Given the description of an element on the screen output the (x, y) to click on. 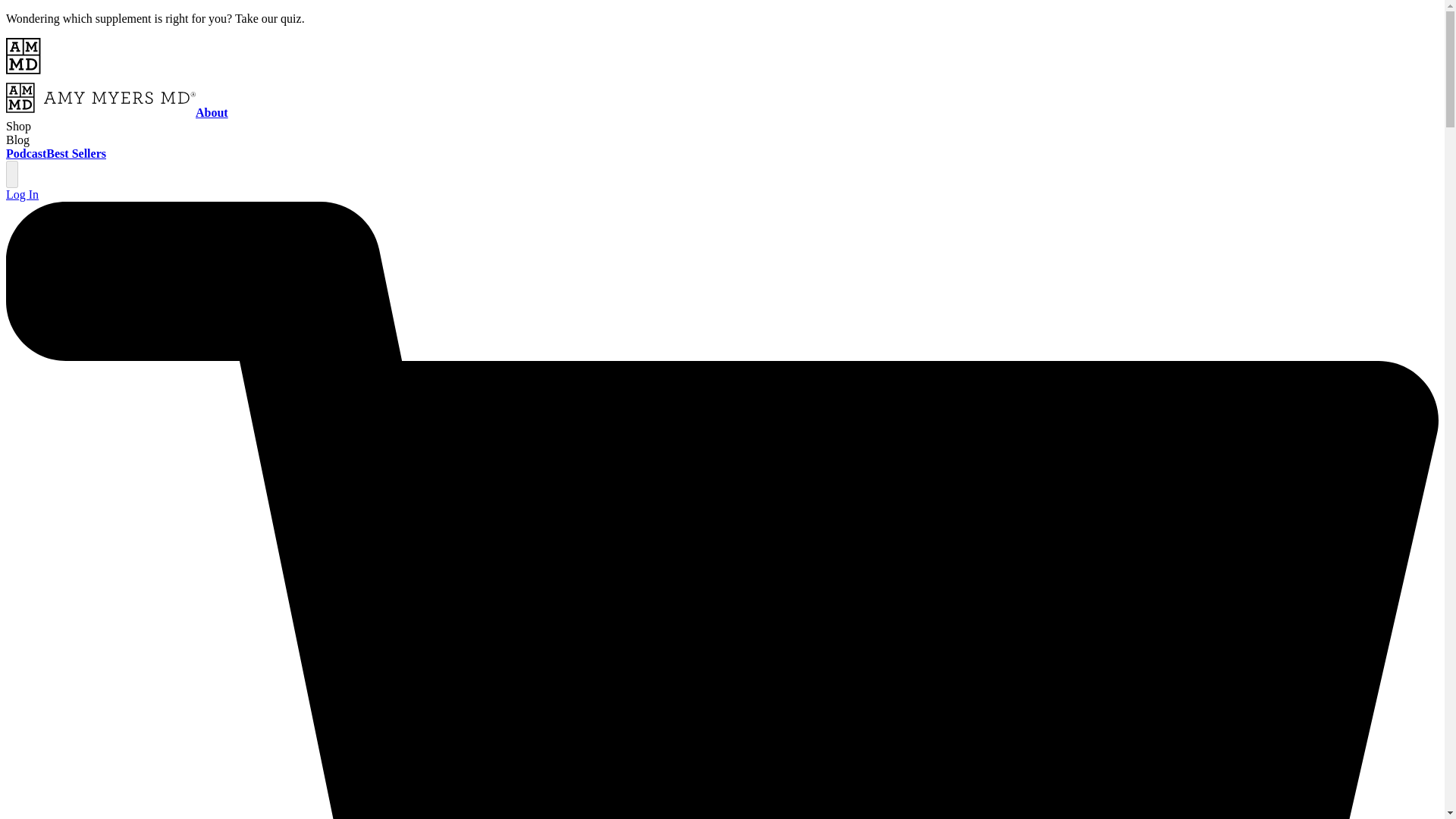
About (211, 112)
Podcast (25, 153)
Best Sellers (76, 153)
Log In (22, 194)
